Given the description of an element on the screen output the (x, y) to click on. 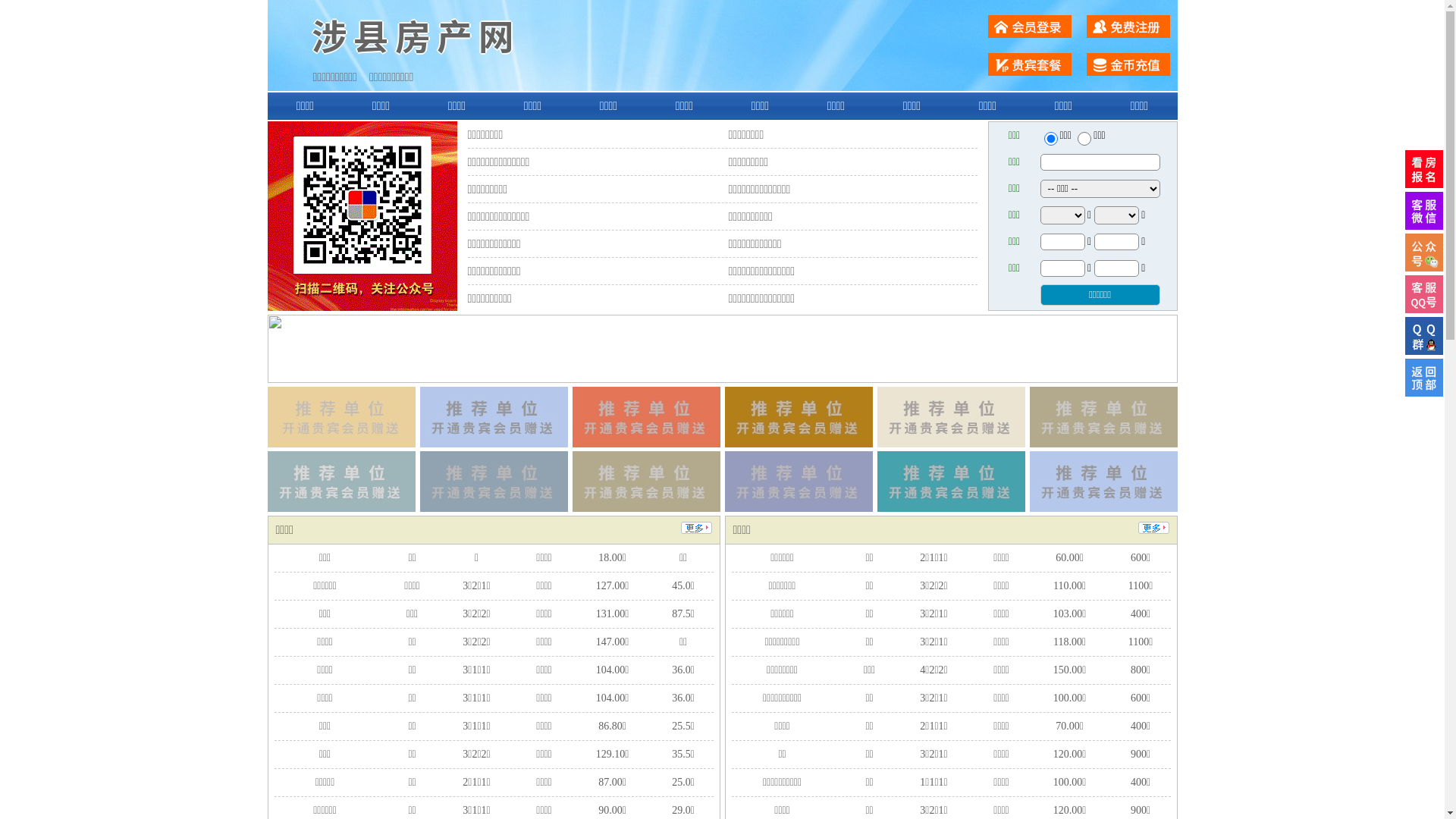
ershou Element type: text (1050, 138)
chuzu Element type: text (1084, 138)
